Given the description of an element on the screen output the (x, y) to click on. 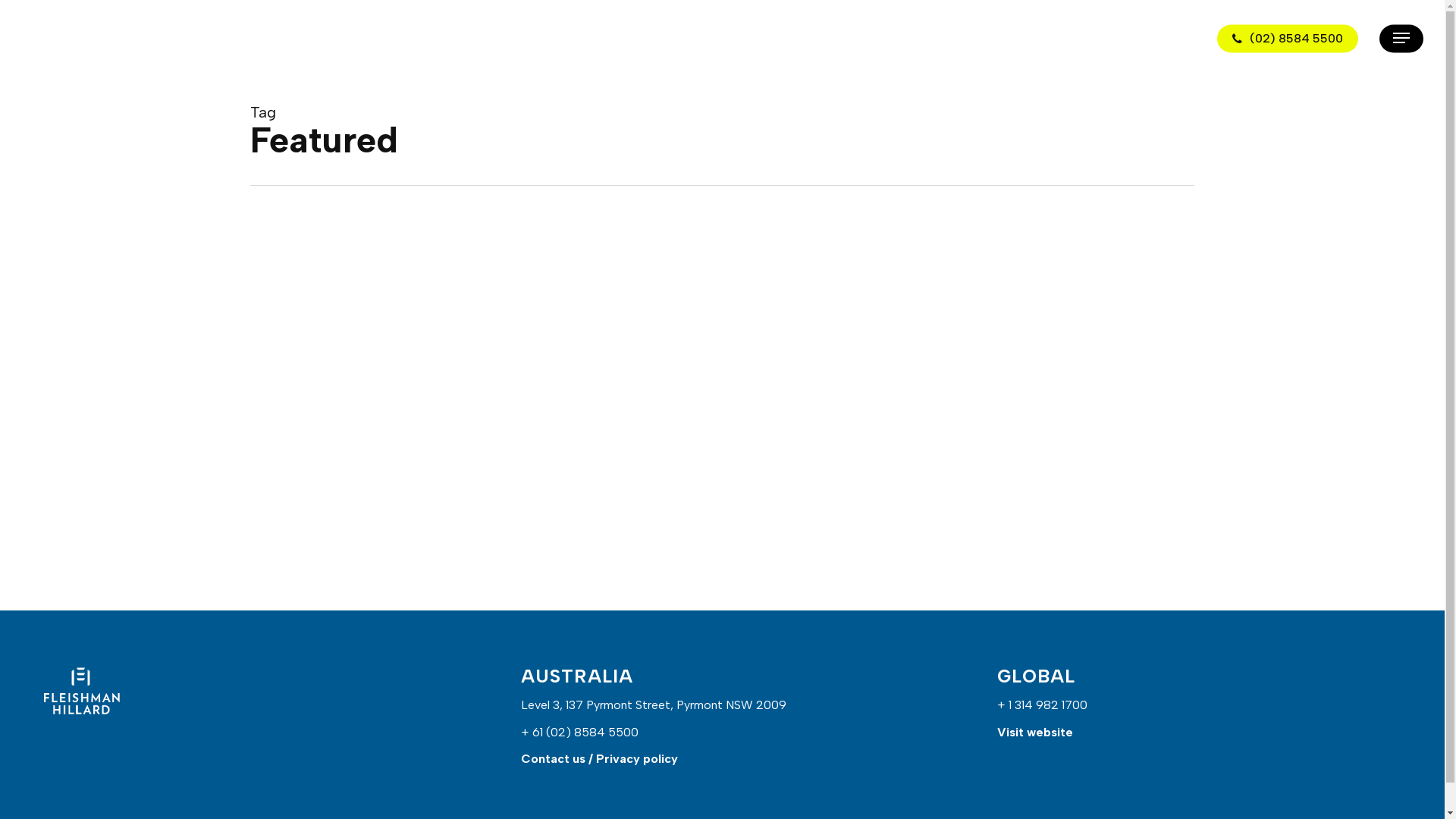
Privacy policy Element type: text (636, 758)
Visit website Element type: text (1035, 731)
Contact us Element type: text (552, 758)
(02) 8584 5500 Element type: text (1287, 37)
Menu Element type: text (1401, 38)
